Given the description of an element on the screen output the (x, y) to click on. 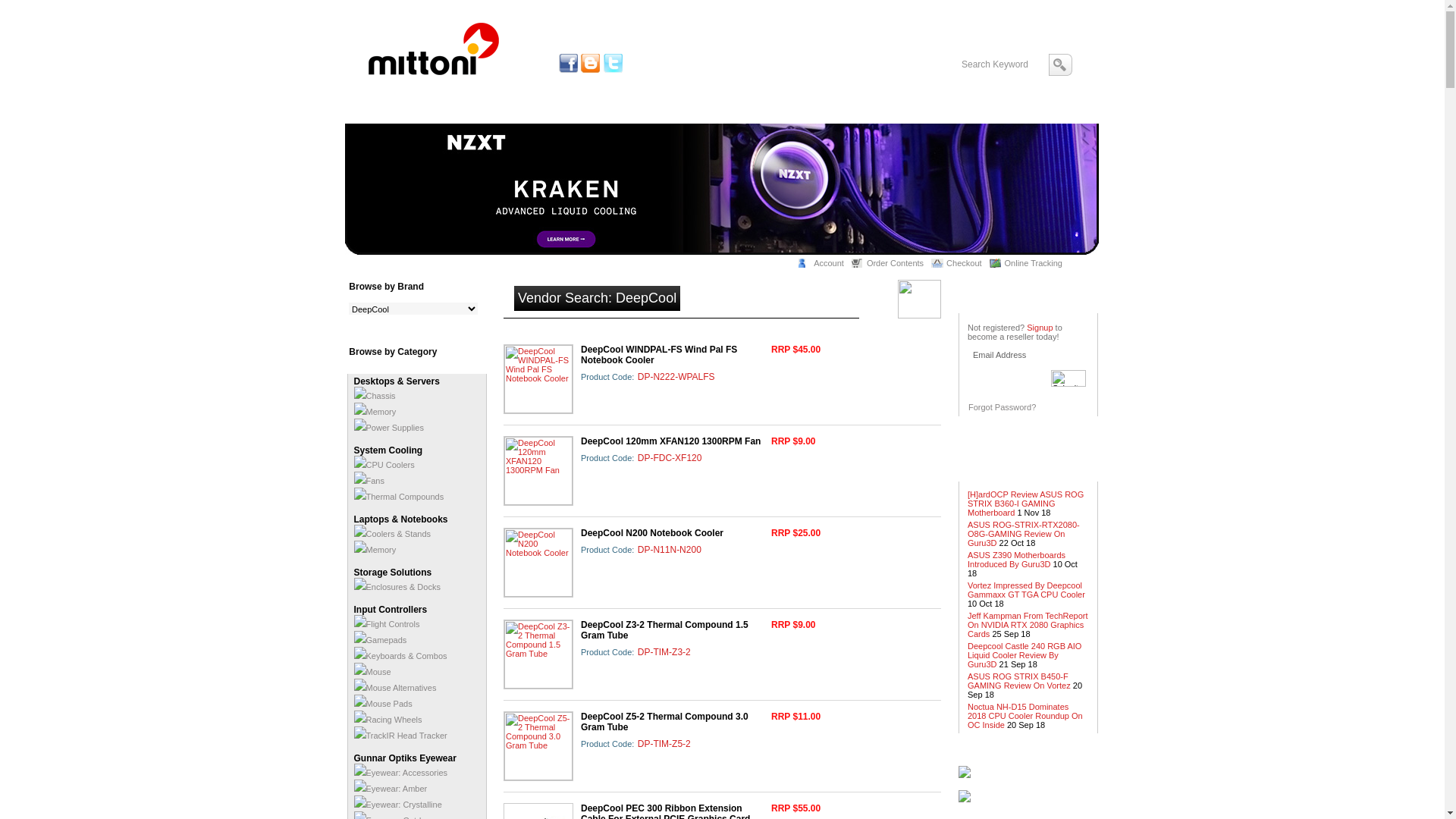
CPU Coolers Element type: text (383, 464)
Mouse Pads Element type: text (382, 703)
ASUS ROG-STRIX-RTX2080-O8G-GAMING Review On Guru3D Element type: text (1023, 533)
[H]ardOCP Review ASUS ROG STRIX B360-I GAMING Motherboard Element type: text (1025, 503)
 DeepCool Z3-2 Thermal Compound 1.5 Gram Tube  Element type: hover (538, 654)
DeepCool Z5-2 Thermal Compound 3.0 Gram Tube Element type: text (664, 721)
Eyewear: Accessories Element type: text (400, 772)
Memory Element type: text (374, 411)
Fans Element type: text (368, 480)
Enclosures & Docks Element type: text (396, 586)
ASUS ROG STRIX B450-F GAMING Review On Vortez Element type: text (1018, 680)
Power Supplies Element type: text (388, 427)
Vortez Impressed By Deepcool Gammaxx GT TGA CPU Cooler Element type: text (1026, 589)
 DeepCool Z5-2 Thermal Compound 3.0 Gram Tube  Element type: hover (538, 746)
 DeepCool WINDPAL-FS Wind Pal FS Notebook Cooler  Element type: hover (538, 379)
DeepCool 120mm XFAN120 1300RPM Fan Element type: text (670, 441)
Coolers & Stands Element type: text (391, 533)
 DeepCool N200 Notebook Cooler  Element type: hover (538, 562)
Checkout Element type: text (959, 262)
Mouse Element type: text (371, 671)
Racing Wheels Element type: text (387, 719)
Deepcool Castle 240 RGB AIO Liquid Cooler Review By Guru3D Element type: text (1024, 654)
Gamepads Element type: text (379, 639)
TrackIR Head Tracker Element type: text (399, 735)
Account Element type: text (824, 262)
ASUS Z390 Motherboards Introduced By Guru3D Element type: text (1016, 559)
Order Contents Element type: text (891, 262)
Thermal Compounds Element type: text (398, 496)
Mouse Alternatives Element type: text (394, 687)
Flight Controls Element type: text (386, 623)
Forgot Password? Element type: text (1001, 406)
Memory Element type: text (374, 549)
DeepCool N200 Notebook Cooler Element type: text (651, 532)
Keyboards & Combos Element type: text (399, 655)
Signup Element type: text (1039, 327)
Online Tracking Element type: text (1029, 262)
Eyewear: Crystalline Element type: text (397, 804)
DeepCool WINDPAL-FS Wind Pal FS Notebook Cooler Element type: text (658, 354)
Eyewear: Amber Element type: text (389, 788)
DeepCool Z3-2 Thermal Compound 1.5 Gram Tube Element type: text (664, 629)
 DeepCool 120mm XFAN120 1300RPM Fan  Element type: hover (538, 470)
Chassis Element type: text (374, 395)
Noctua NH-D15 Dominates 2018 CPU Cooler Roundup On OC Inside Element type: text (1024, 715)
